Given the description of an element on the screen output the (x, y) to click on. 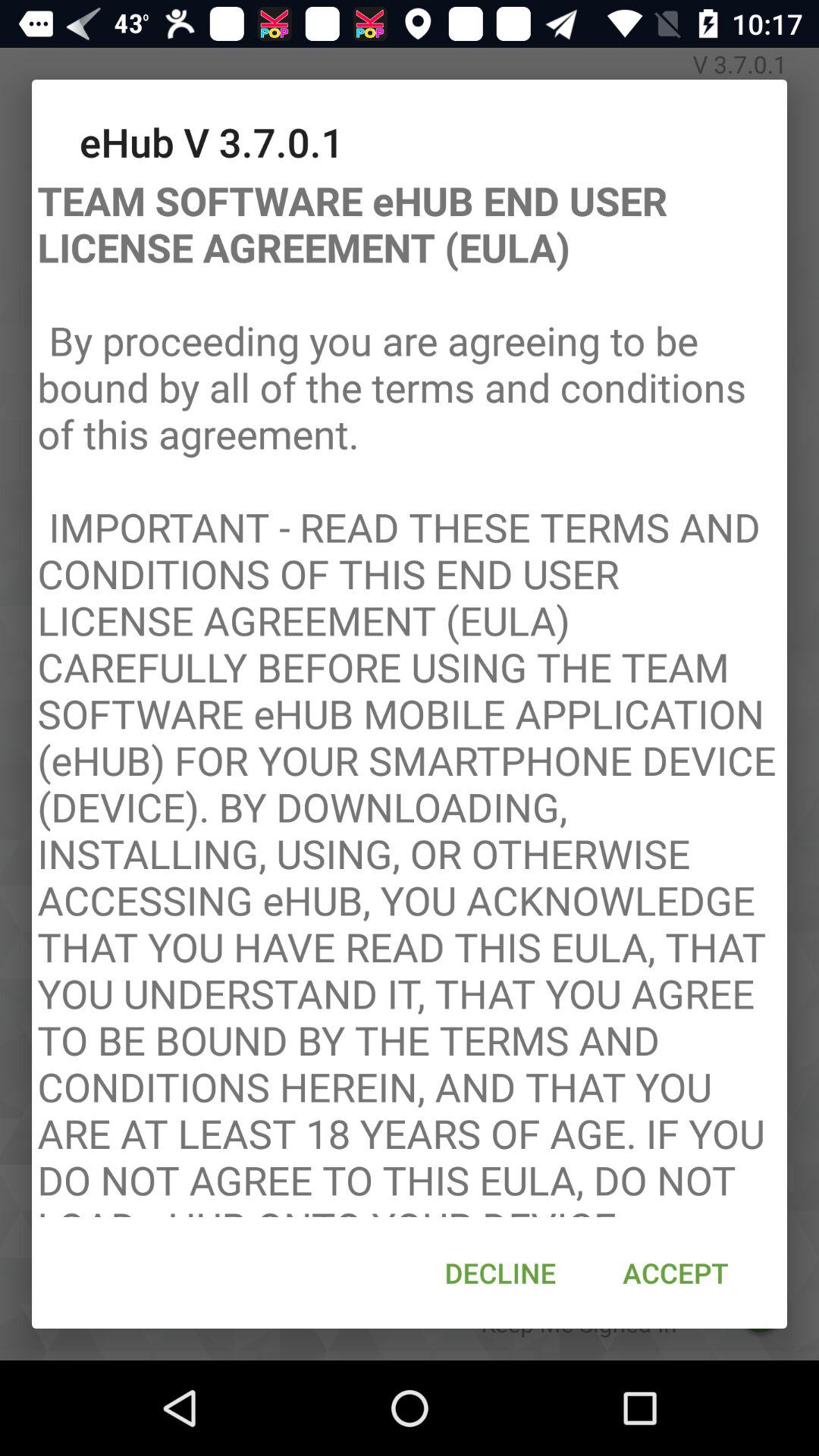
choose the item above the decline item (409, 692)
